Given the description of an element on the screen output the (x, y) to click on. 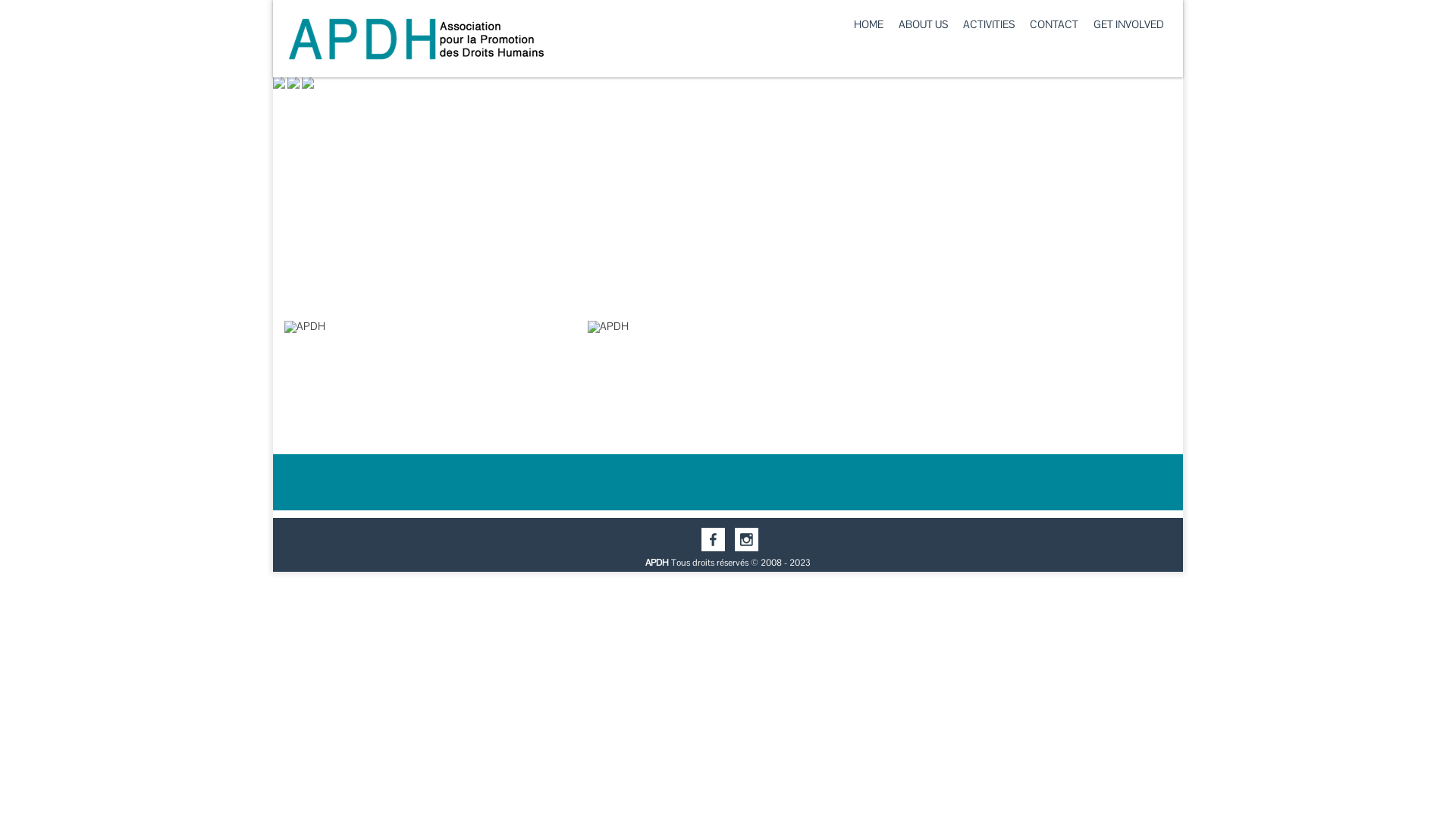
HOME Element type: text (868, 24)
ABOUT US Element type: text (923, 24)
CONTACT Element type: text (1053, 24)
ACTIVITIES Element type: text (988, 24)
GET INVOLVED Element type: text (1128, 24)
